Given the description of an element on the screen output the (x, y) to click on. 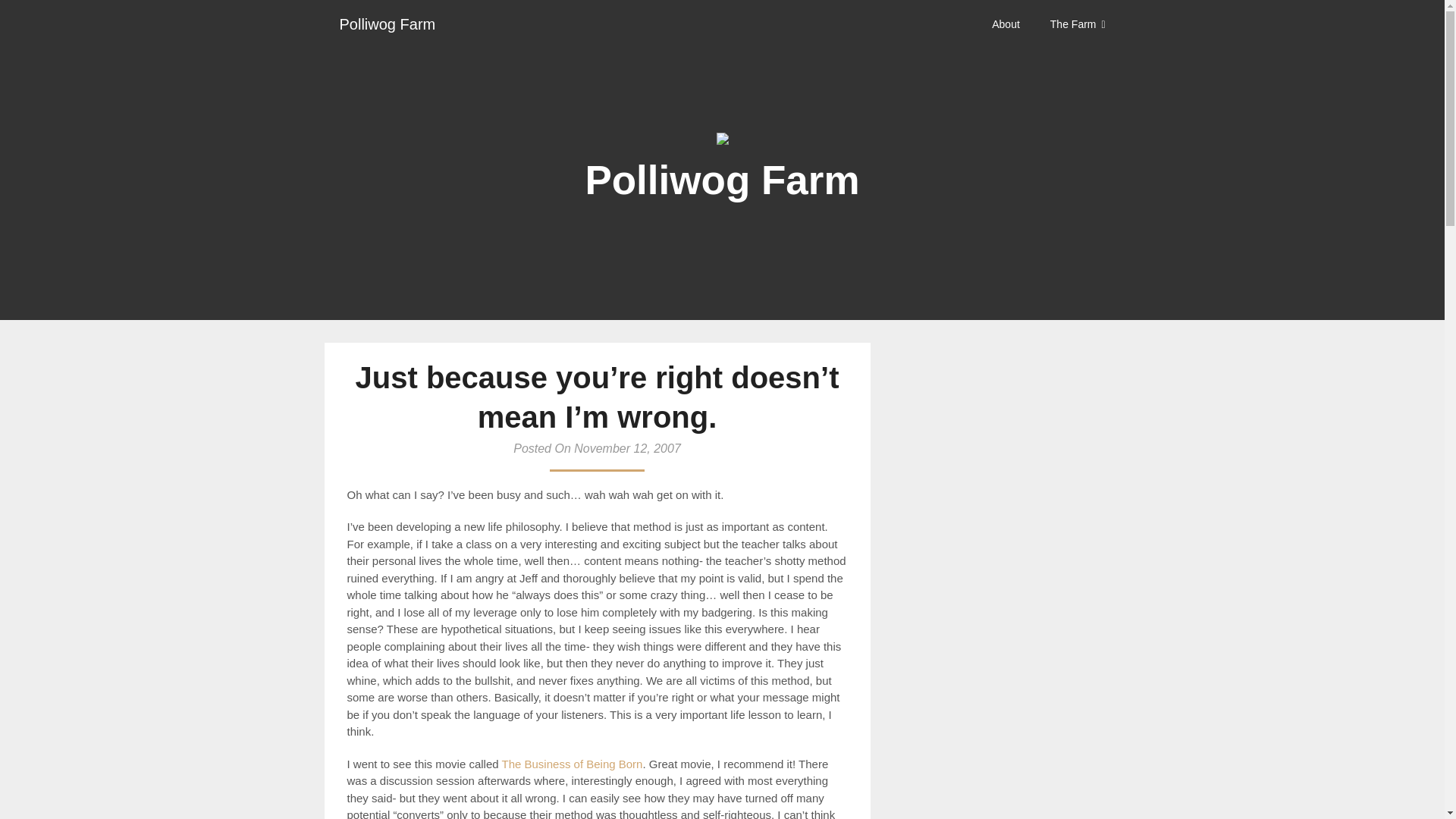
The Farm (1078, 24)
Polliwog Farm (387, 24)
The Business of Being Born (572, 762)
